Given the description of an element on the screen output the (x, y) to click on. 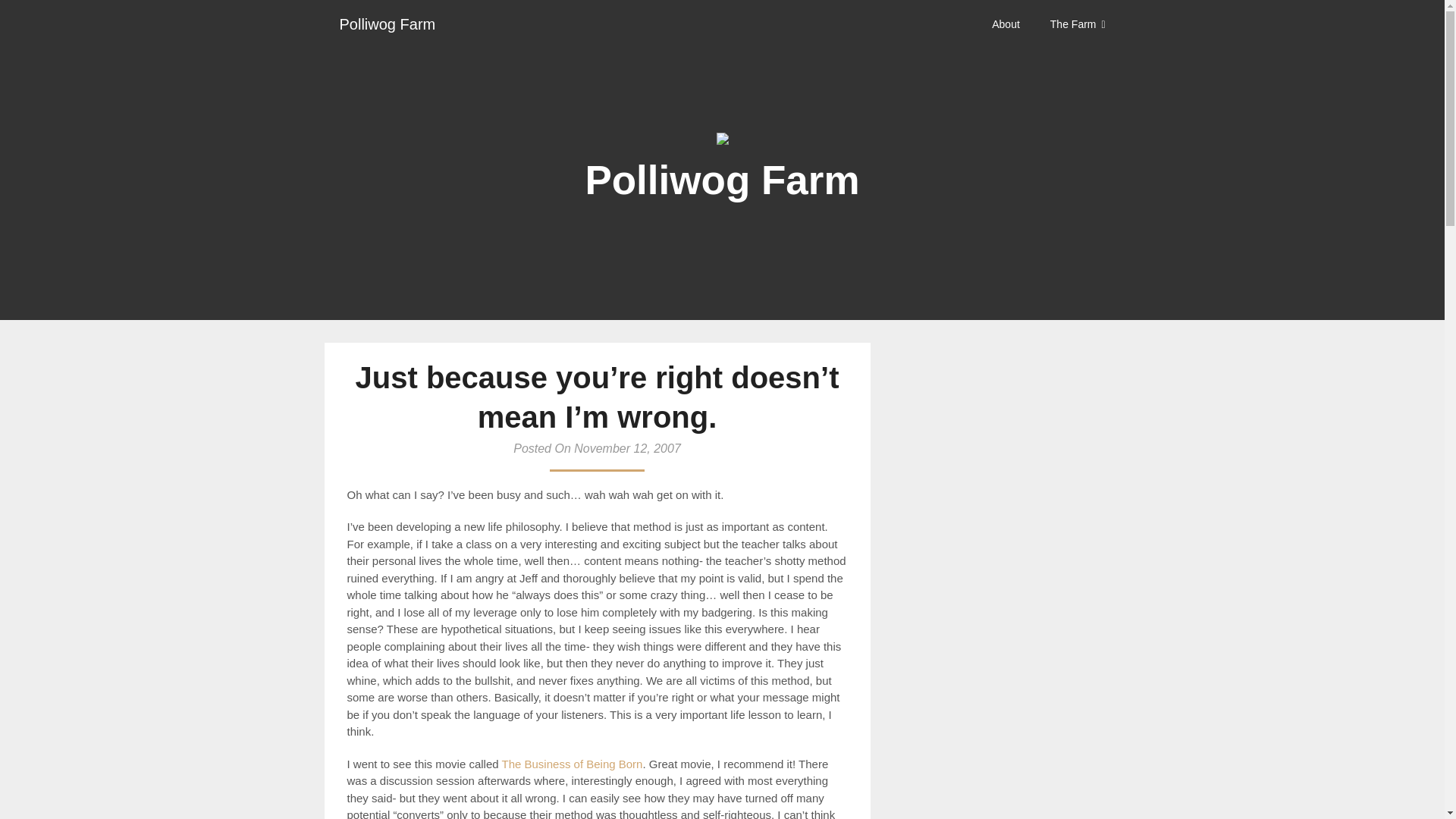
The Farm (1078, 24)
Polliwog Farm (387, 24)
The Business of Being Born (572, 762)
